Given the description of an element on the screen output the (x, y) to click on. 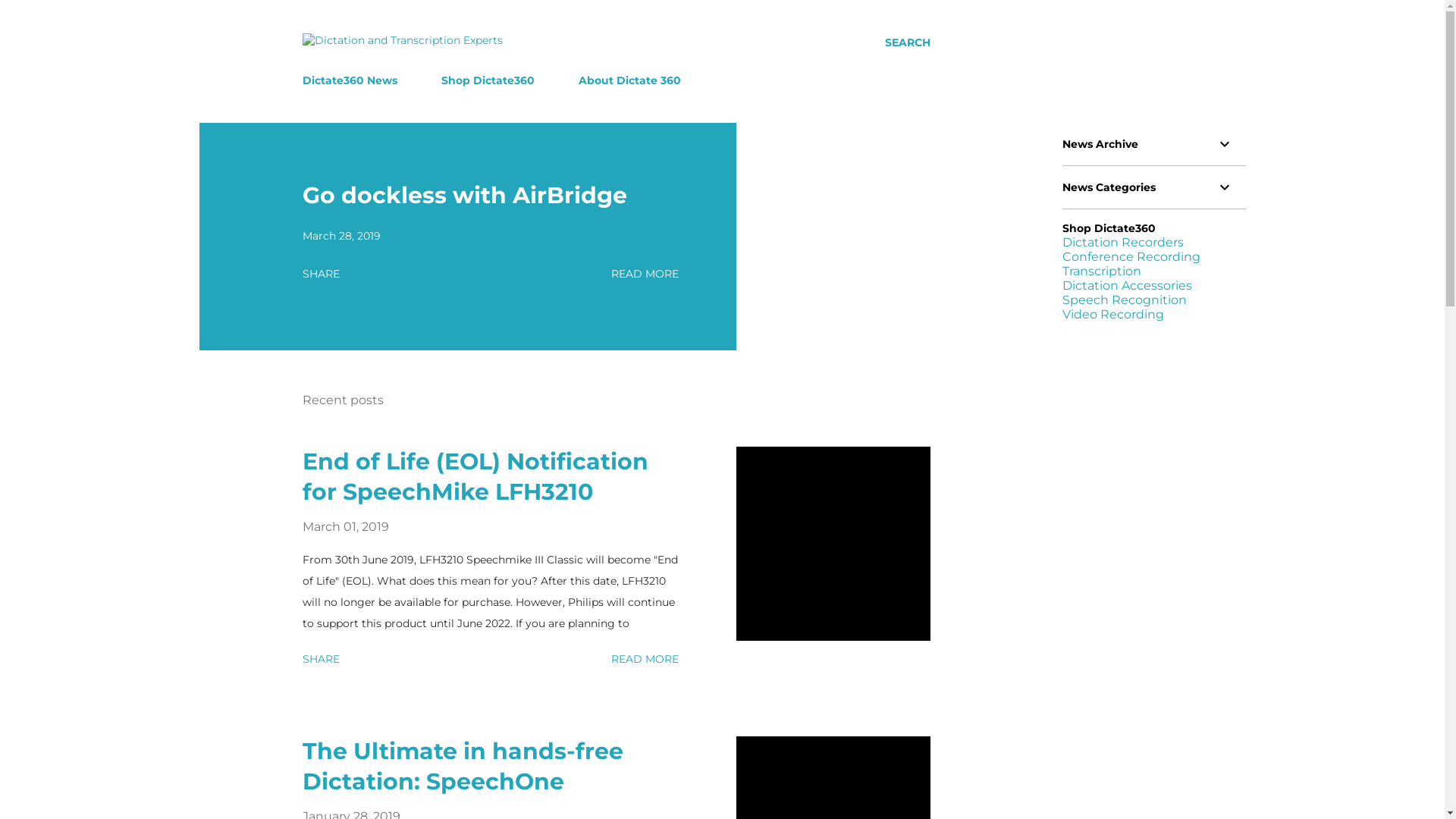
SEARCH Element type: text (906, 42)
Dictation Accessories Element type: text (1126, 285)
SHARE Element type: text (320, 658)
March 28, 2019 Element type: text (340, 235)
Video Recording Element type: text (1112, 314)
Shop Dictate360 Element type: text (487, 80)
The Ultimate in hands-free Dictation: SpeechOne Element type: text (461, 766)
SHARE Element type: text (320, 273)
READ MORE Element type: text (644, 273)
Conference Recording Element type: text (1130, 256)
Transcription Element type: text (1100, 270)
Dictation Recorders Element type: text (1122, 242)
Dictate360 News Element type: text (353, 80)
Speech Recognition Element type: text (1123, 299)
About Dictate 360 Element type: text (628, 80)
READ MORE Element type: text (644, 658)
Go dockless with AirBridge Element type: text (463, 195)
March 01, 2019 Element type: text (344, 526)
End of Life (EOL) Notification for SpeechMike LFH3210 Element type: text (474, 476)
